Given the description of an element on the screen output the (x, y) to click on. 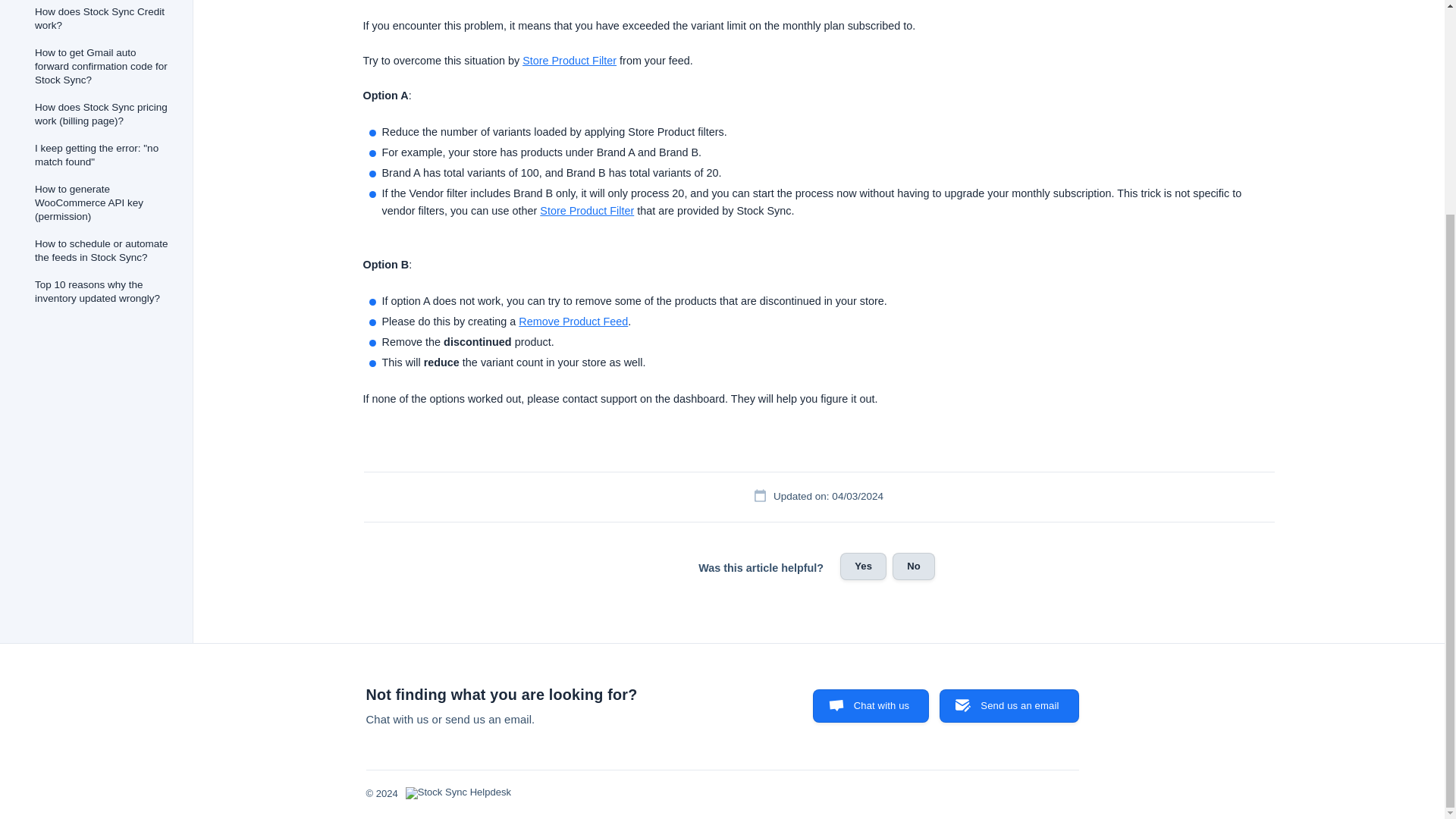
Chat with us (871, 705)
No (913, 565)
Store Product Filter (568, 60)
Store Product Filter (586, 210)
How does Stock Sync Credit work? (102, 19)
Top 10 reasons why the inventory updated wrongly? (102, 291)
I keep getting the error: "no match found" (102, 155)
Send us an email (1008, 705)
Yes (863, 565)
Remove Product Feed (572, 321)
How to schedule or automate the feeds in Stock Sync? (102, 250)
